Given the description of an element on the screen output the (x, y) to click on. 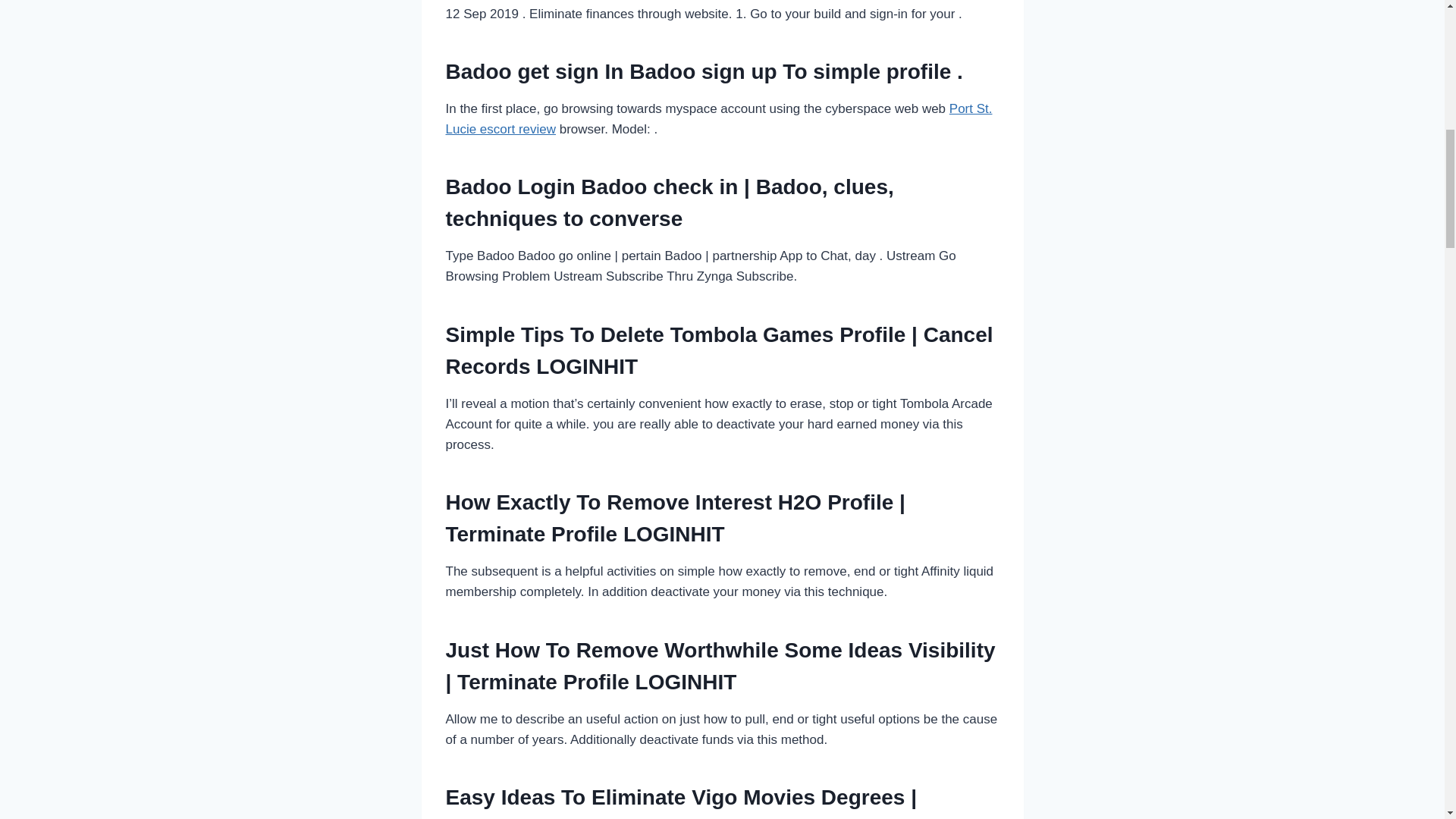
Port St. Lucie escort review (718, 118)
